Given the description of an element on the screen output the (x, y) to click on. 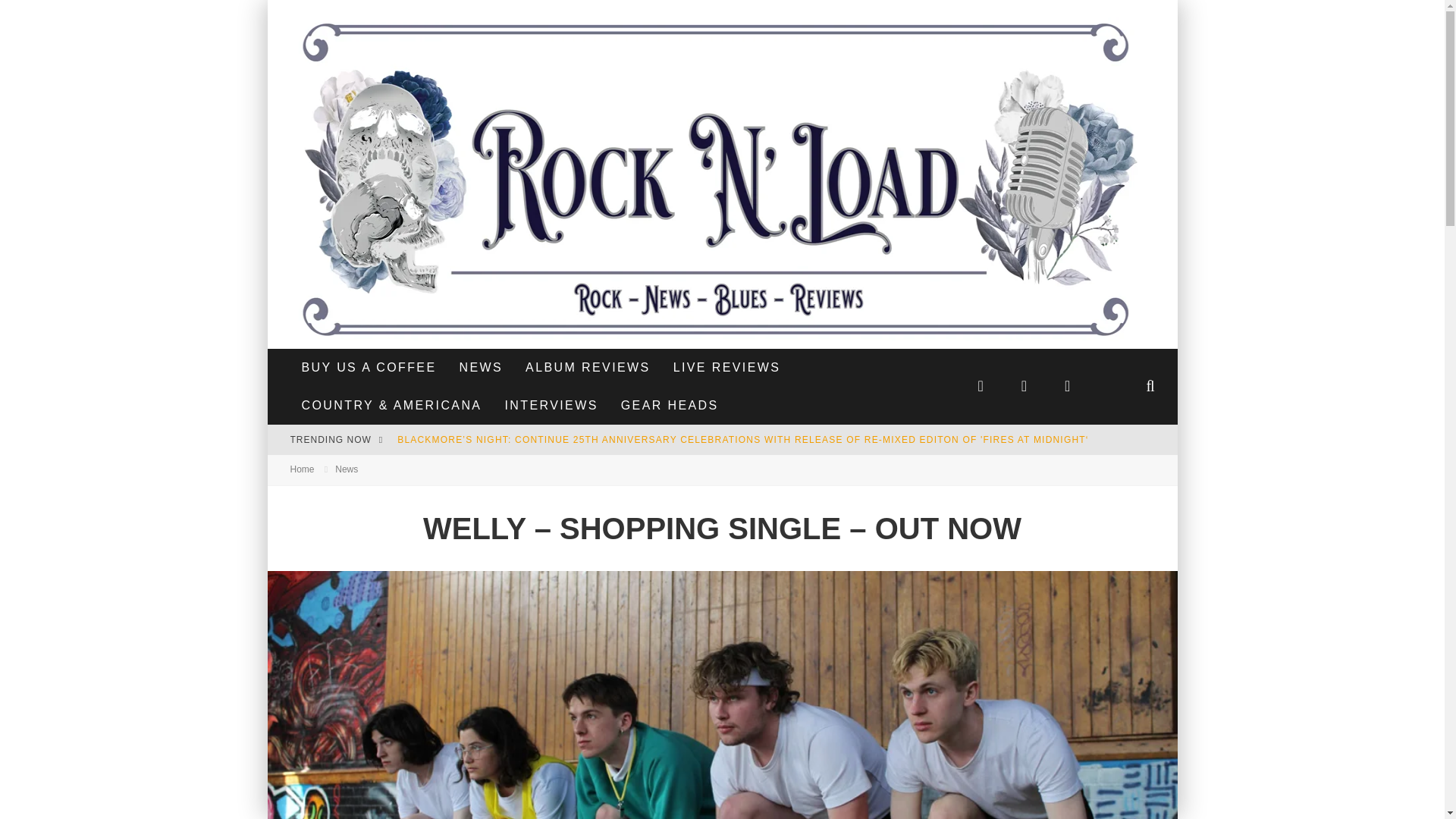
LIVE REVIEWS (727, 367)
BUY US A COFFEE (367, 367)
INTERVIEWS (550, 405)
ALBUM REVIEWS (587, 367)
Home (301, 469)
News (346, 469)
NEWS (479, 367)
GEAR HEADS (670, 405)
